Given the description of an element on the screen output the (x, y) to click on. 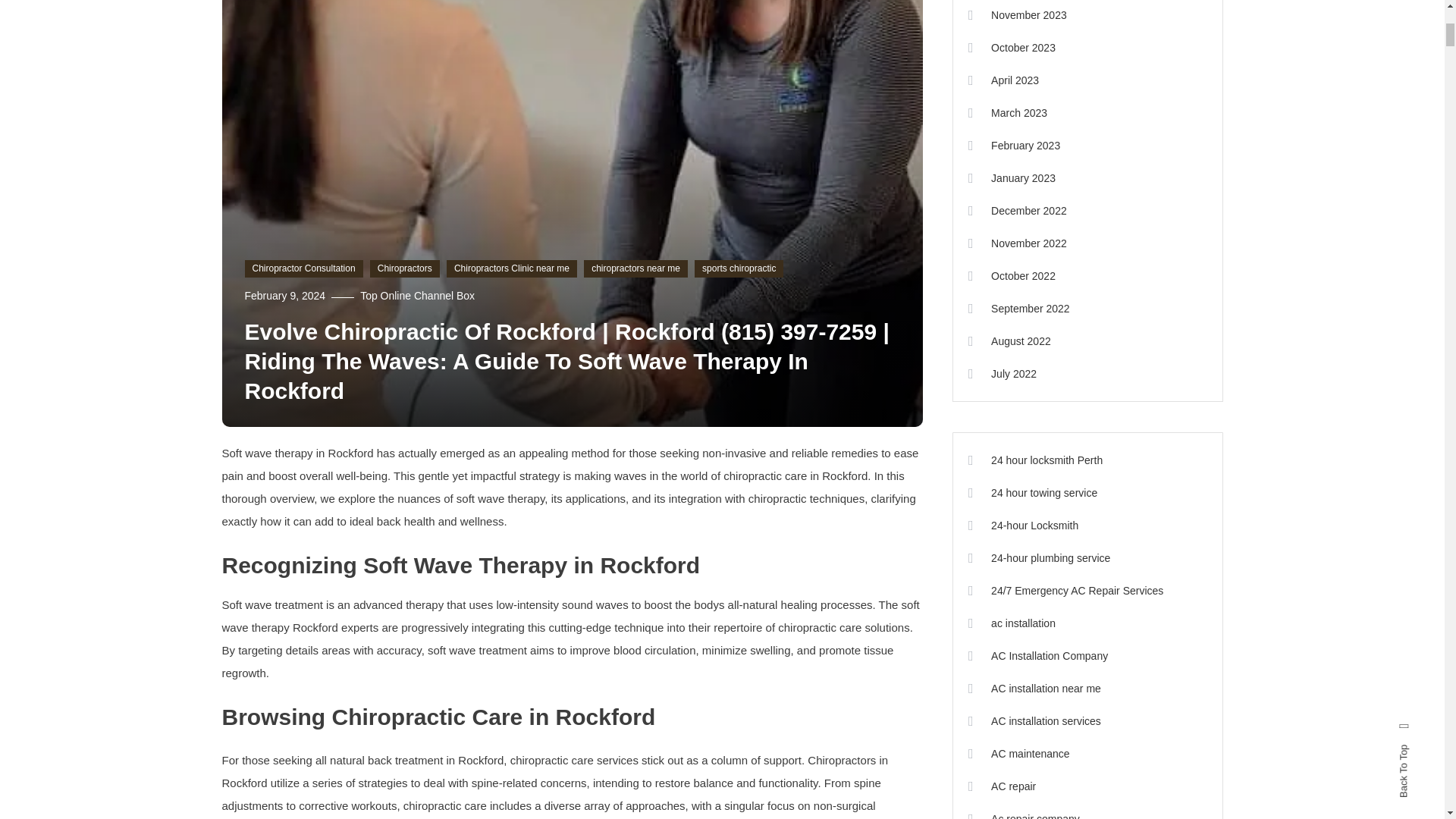
Chiropractor Consultation (303, 269)
Chiropractors (404, 269)
